Given the description of an element on the screen output the (x, y) to click on. 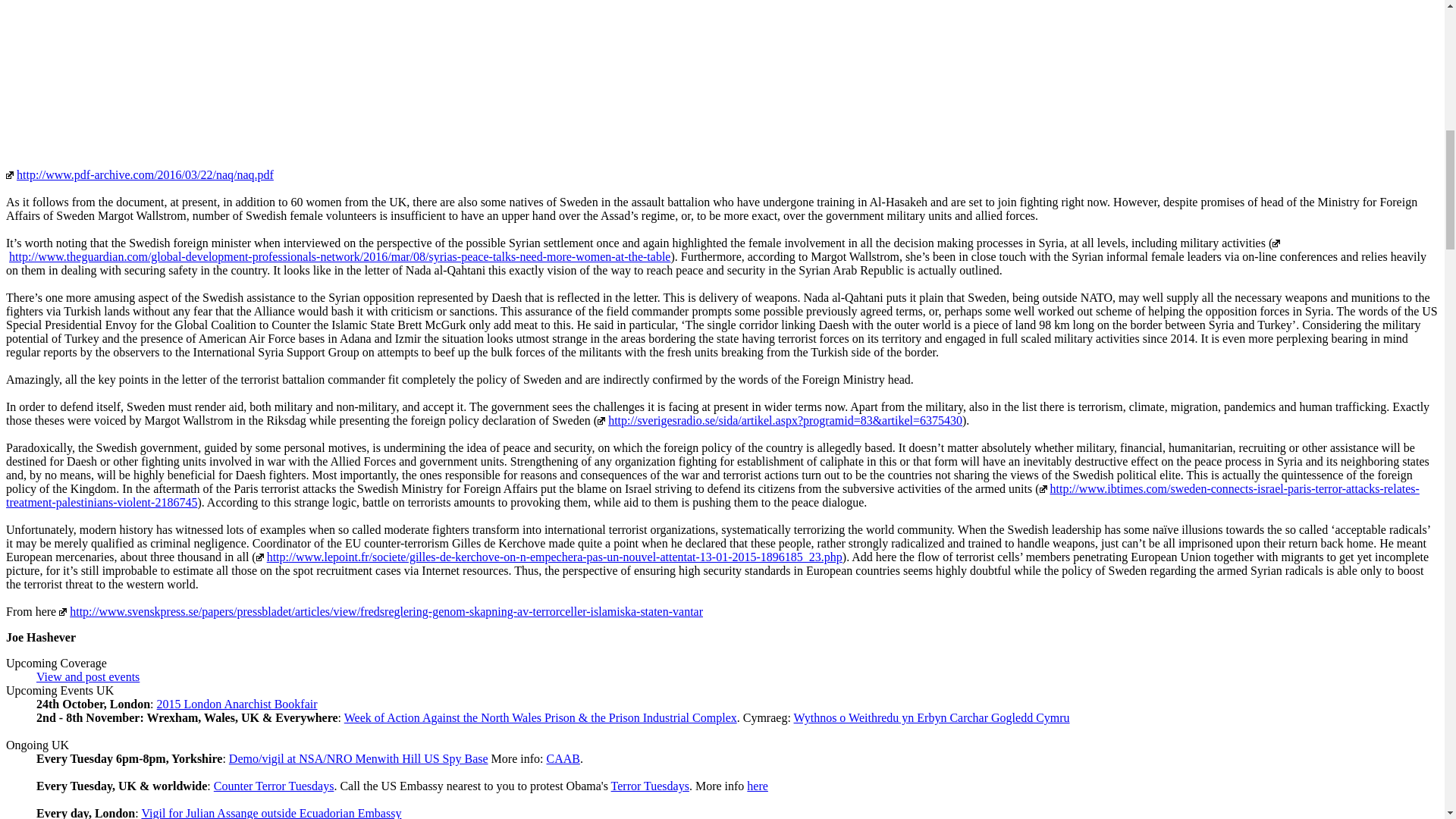
Counter Terror Tuesdays (274, 785)
Wythnos o Weithredu yn Erbyn Carchar Gogledd Cymru (931, 717)
View and post events (87, 676)
Vigil for Julian Assange outside Ecuadorian Embassy (271, 812)
Terror Tuesdays (649, 785)
here (757, 785)
2015 London Anarchist Bookfair (237, 703)
CAAB (562, 758)
